Given the description of an element on the screen output the (x, y) to click on. 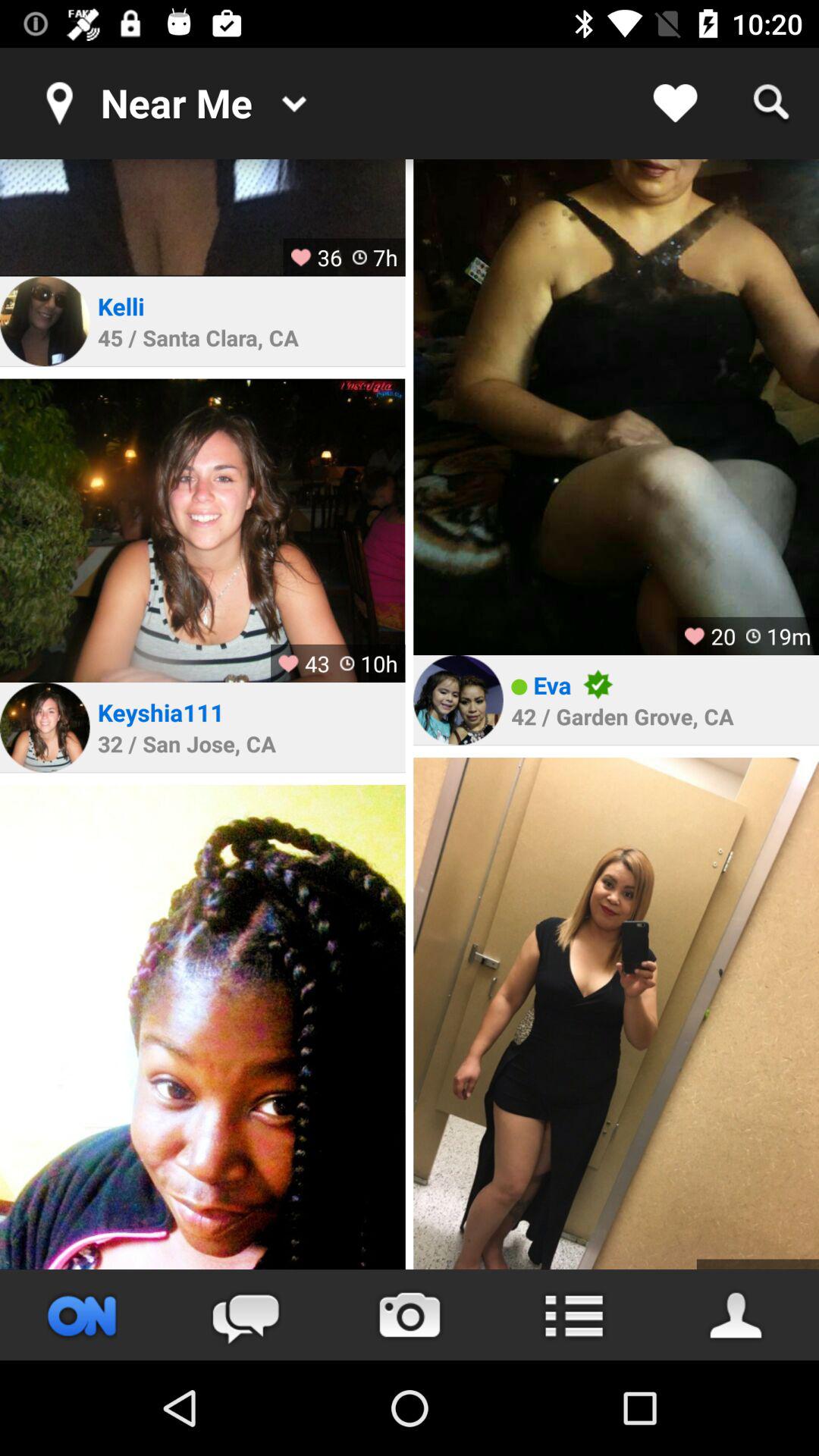
go to profile (616, 1013)
